Given the description of an element on the screen output the (x, y) to click on. 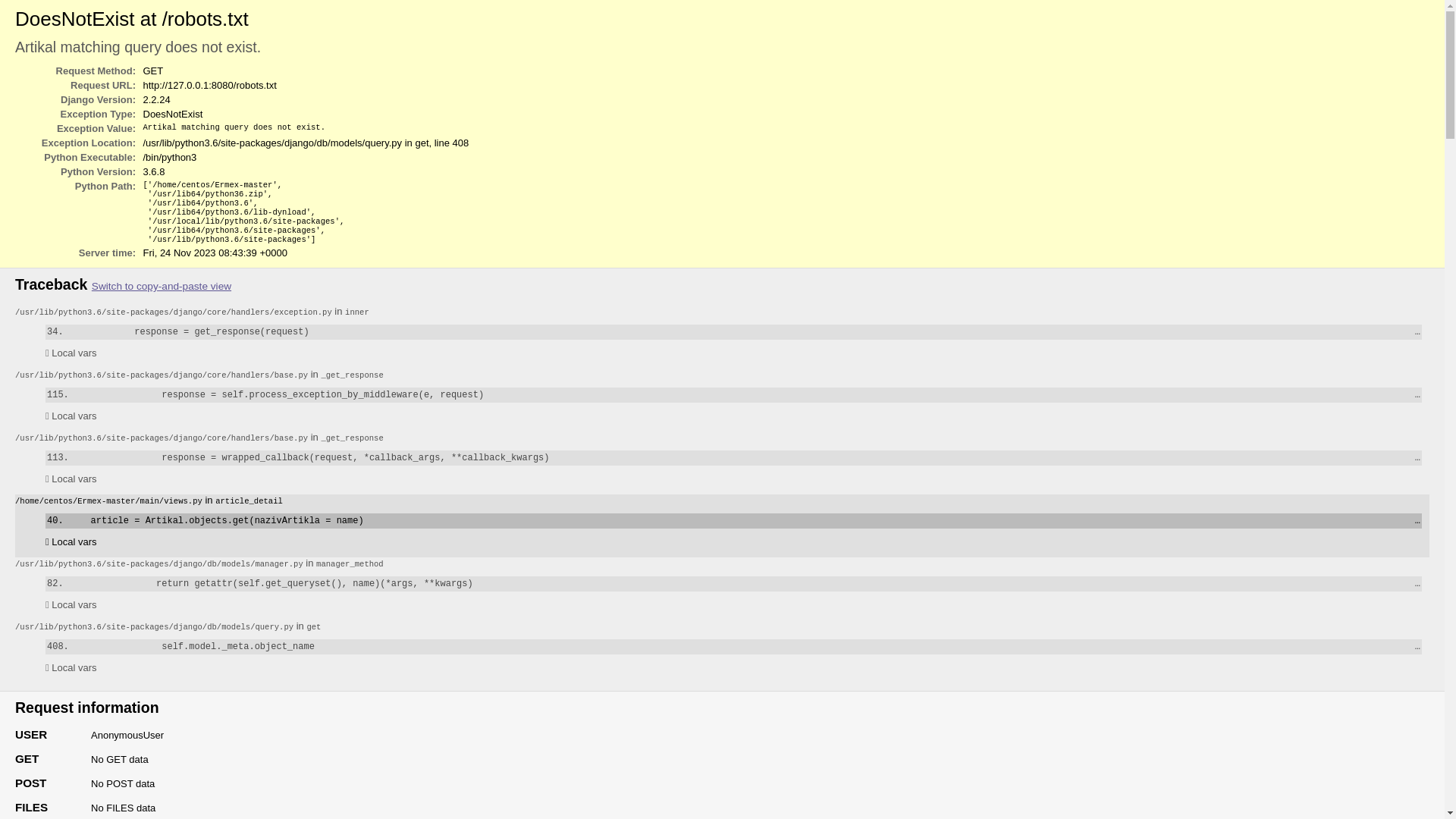
Switch to copy-and-paste view Element type: text (161, 285)
